Given the description of an element on the screen output the (x, y) to click on. 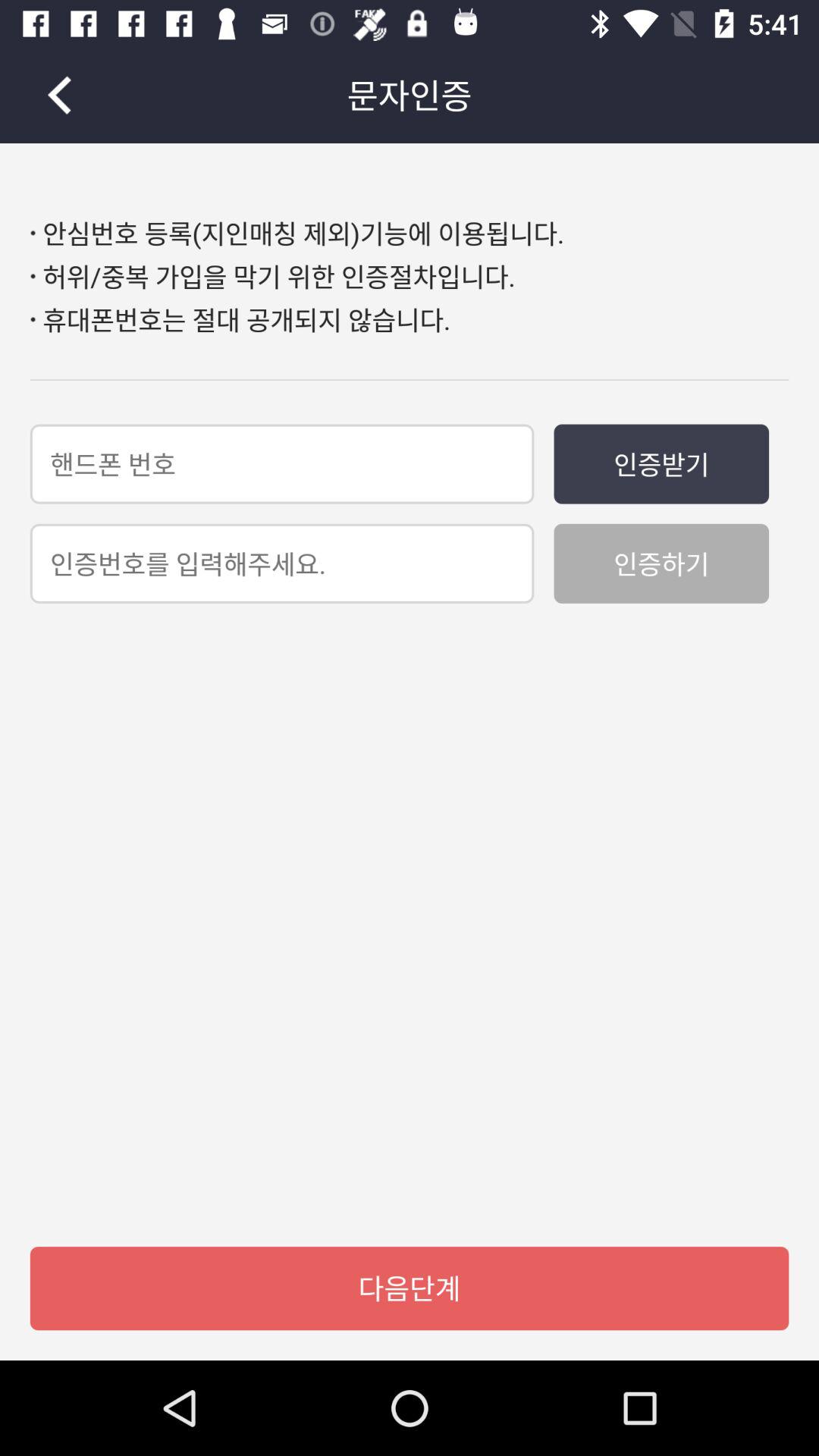
press the item at the top right corner (660, 463)
